Given the description of an element on the screen output the (x, y) to click on. 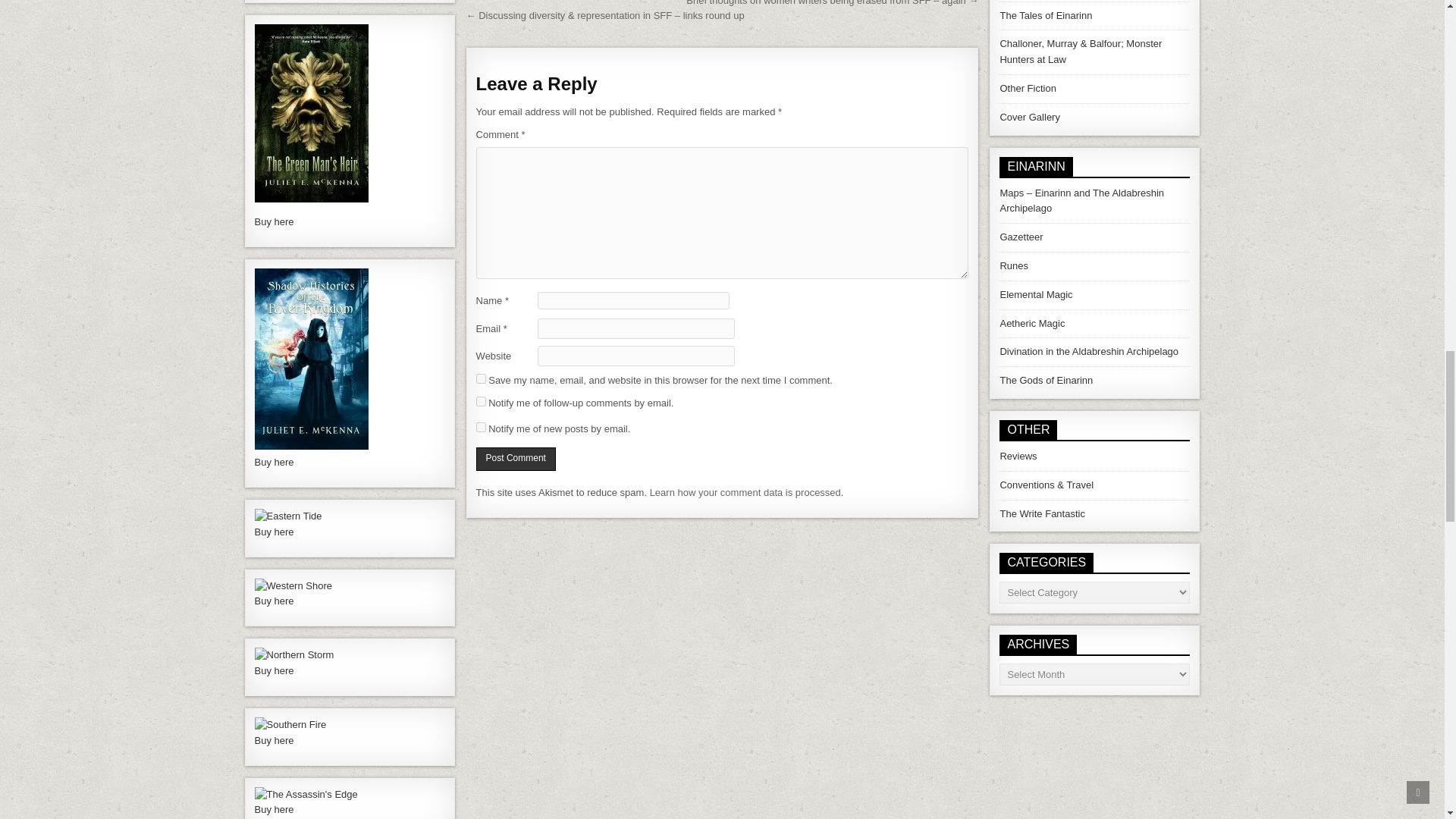
subscribe (481, 427)
yes (481, 378)
Post Comment (516, 458)
subscribe (481, 401)
